Given the description of an element on the screen output the (x, y) to click on. 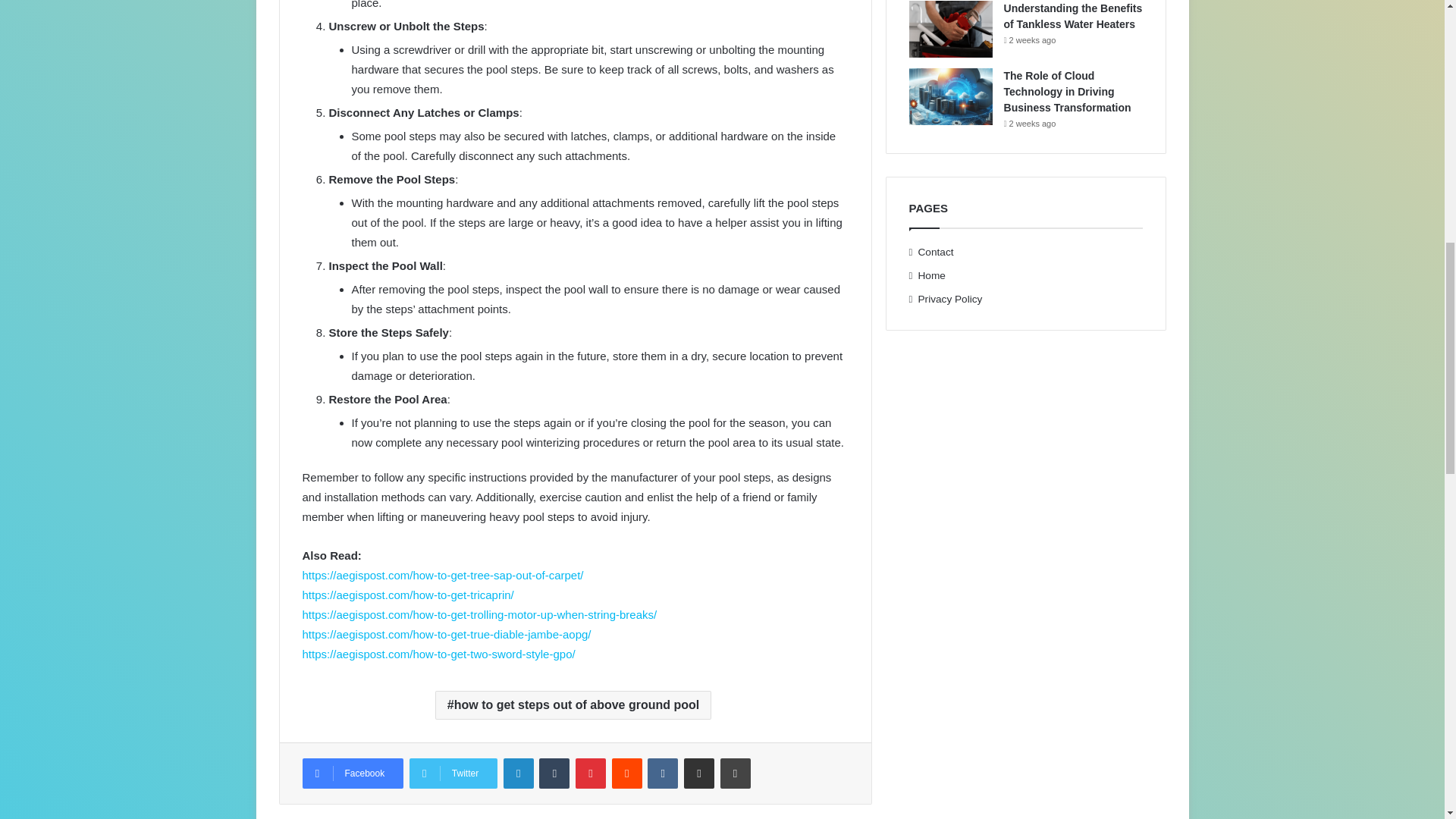
Twitter (453, 773)
VKontakte (662, 773)
Reddit (626, 773)
Share via Email (699, 773)
Twitter (453, 773)
Share via Email (699, 773)
Print (735, 773)
Pinterest (590, 773)
Facebook (352, 773)
Tumblr (553, 773)
